Given the description of an element on the screen output the (x, y) to click on. 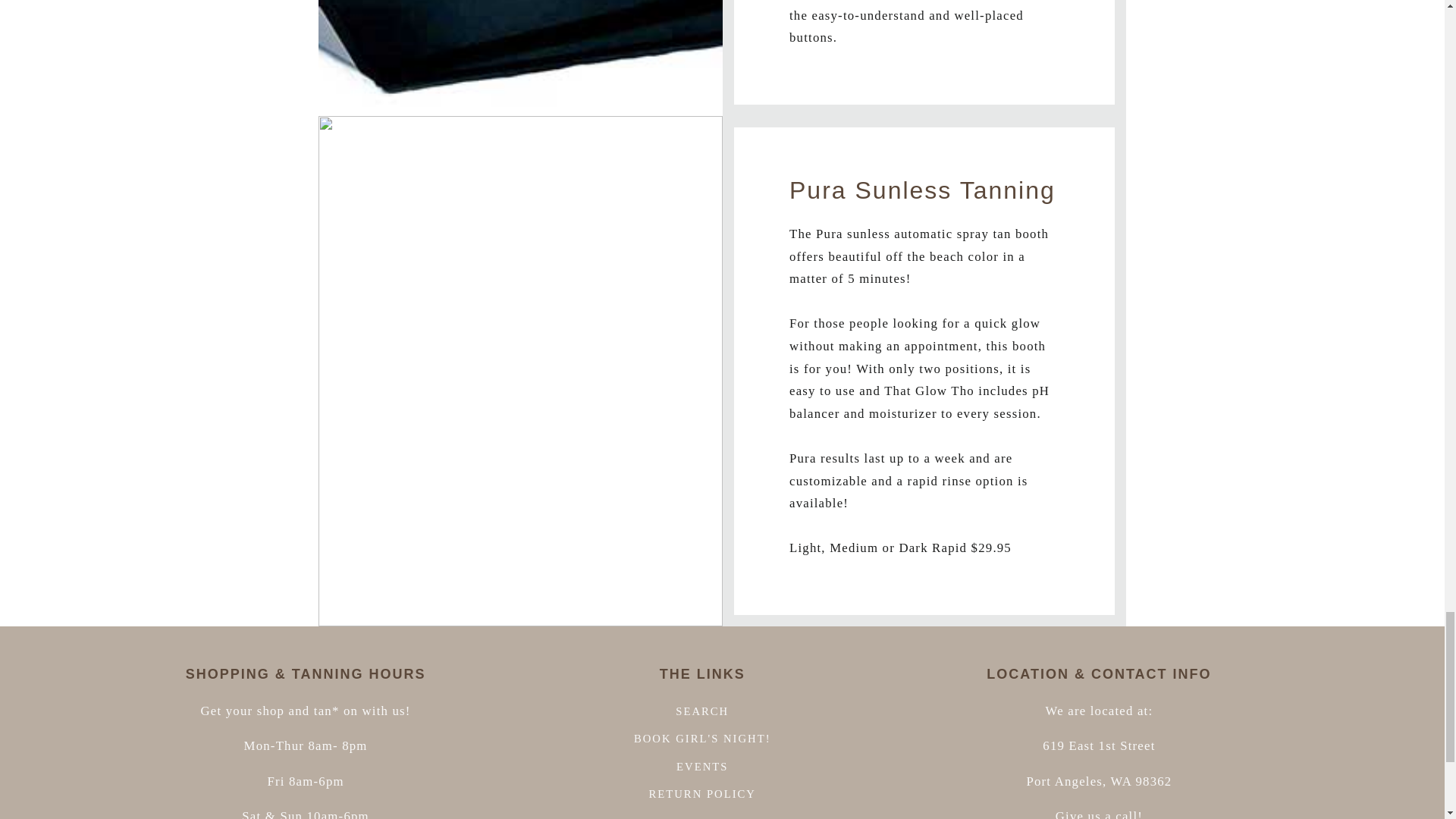
EVENTS (702, 766)
RETURN POLICY (702, 794)
BOOK GIRL'S NIGHT! (702, 738)
SEARCH (702, 713)
